Given the description of an element on the screen output the (x, y) to click on. 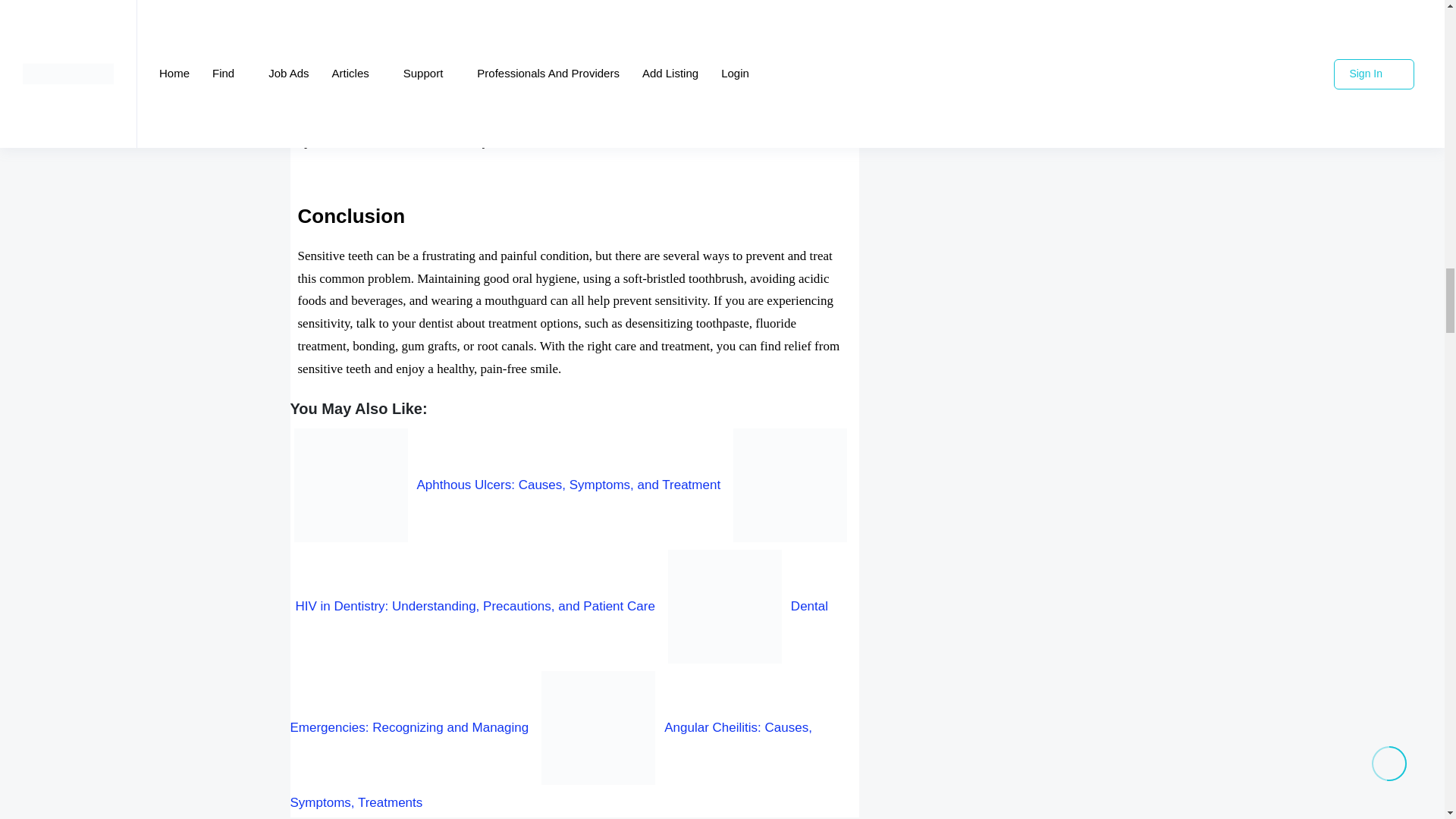
Aphthous Ulcers: Causes, Symptoms, and Treatment (507, 484)
Aphthous Ulcers: Causes, Symptoms, and Treatment (507, 484)
root canal (416, 16)
dentist (503, 95)
Angular Cheilitis: Causes, Symptoms, Treatments (549, 765)
Dental Emergencies: Recognizing and Managing (558, 666)
